Given the description of an element on the screen output the (x, y) to click on. 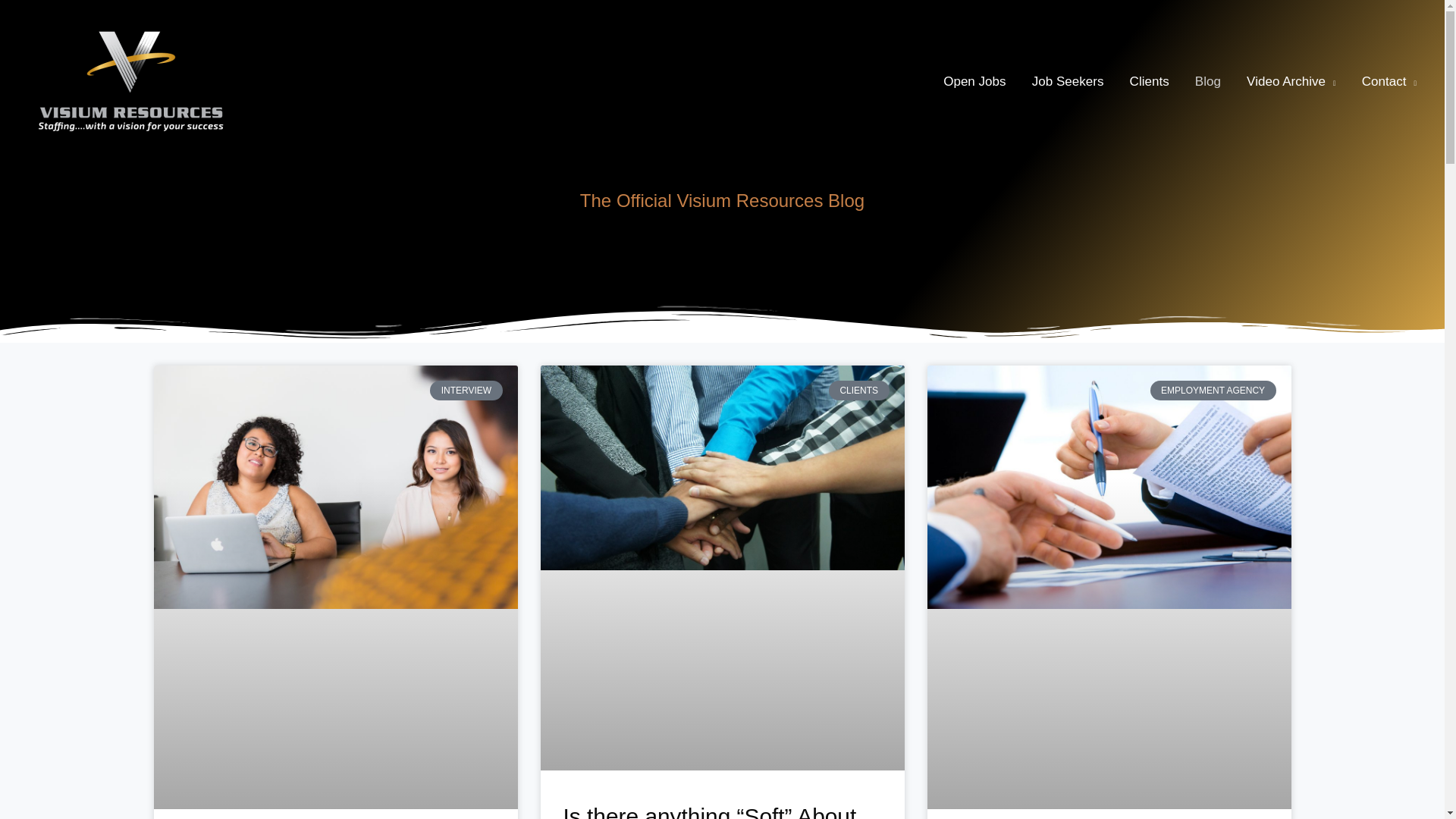
Job Seekers (1067, 81)
Open Jobs (974, 81)
Contact (1389, 81)
Video Archive (1291, 81)
Clients (1149, 81)
Blog (1207, 81)
